Given the description of an element on the screen output the (x, y) to click on. 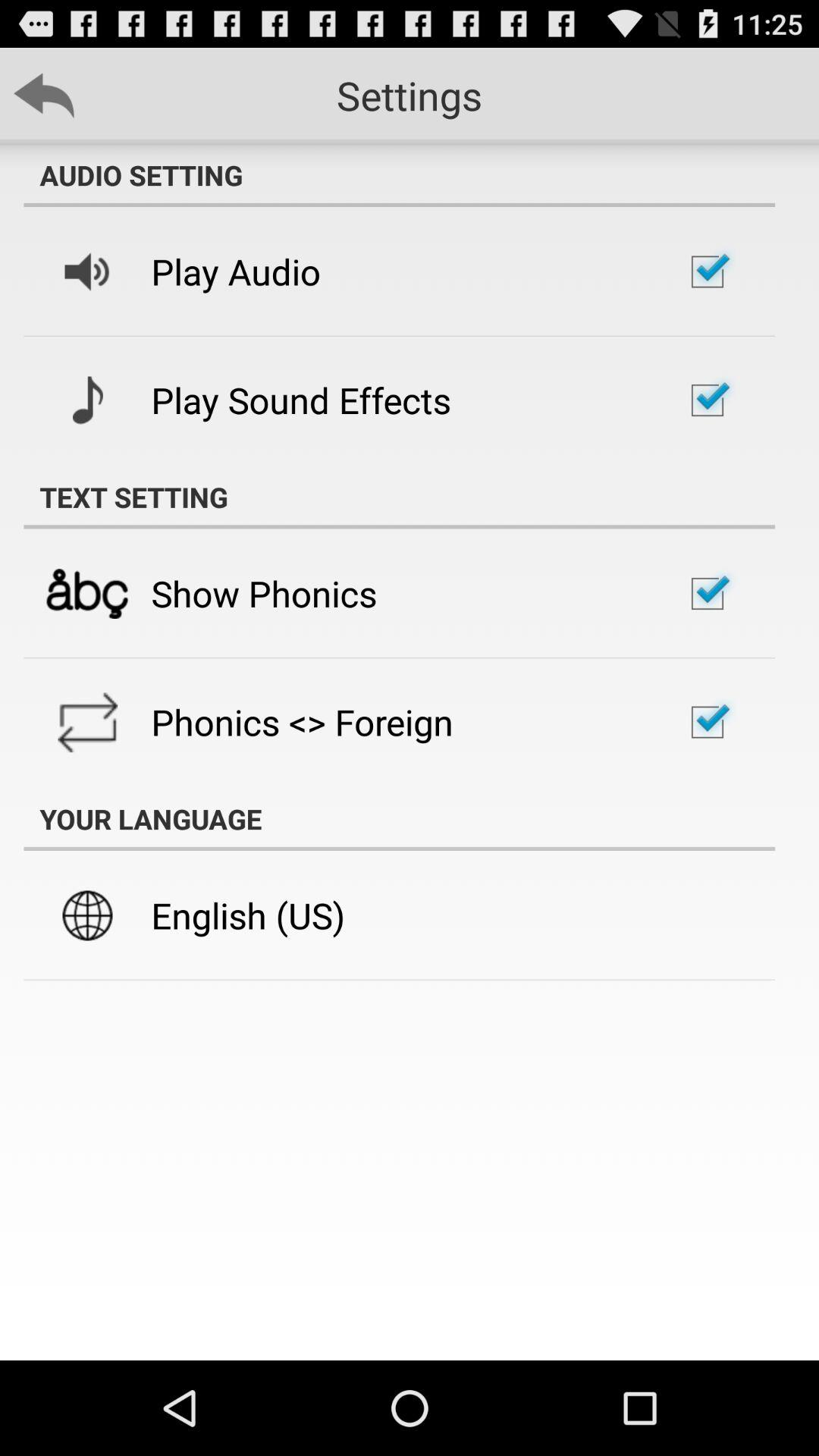
press the text setting item (399, 496)
